Given the description of an element on the screen output the (x, y) to click on. 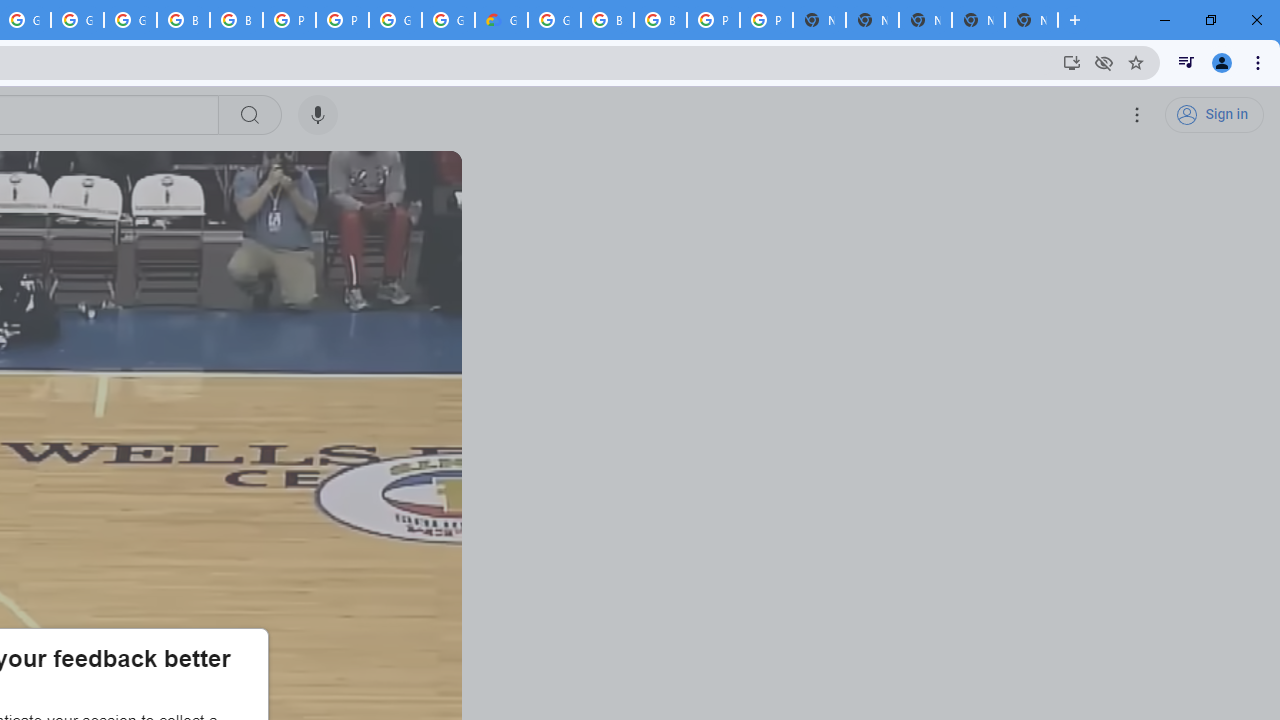
Browse Chrome as a guest - Computer - Google Chrome Help (607, 20)
Google Cloud Estimate Summary (501, 20)
Browse Chrome as a guest - Computer - Google Chrome Help (183, 20)
Google Cloud Platform (395, 20)
Search with your voice (317, 115)
Google Cloud Platform (554, 20)
